Given the description of an element on the screen output the (x, y) to click on. 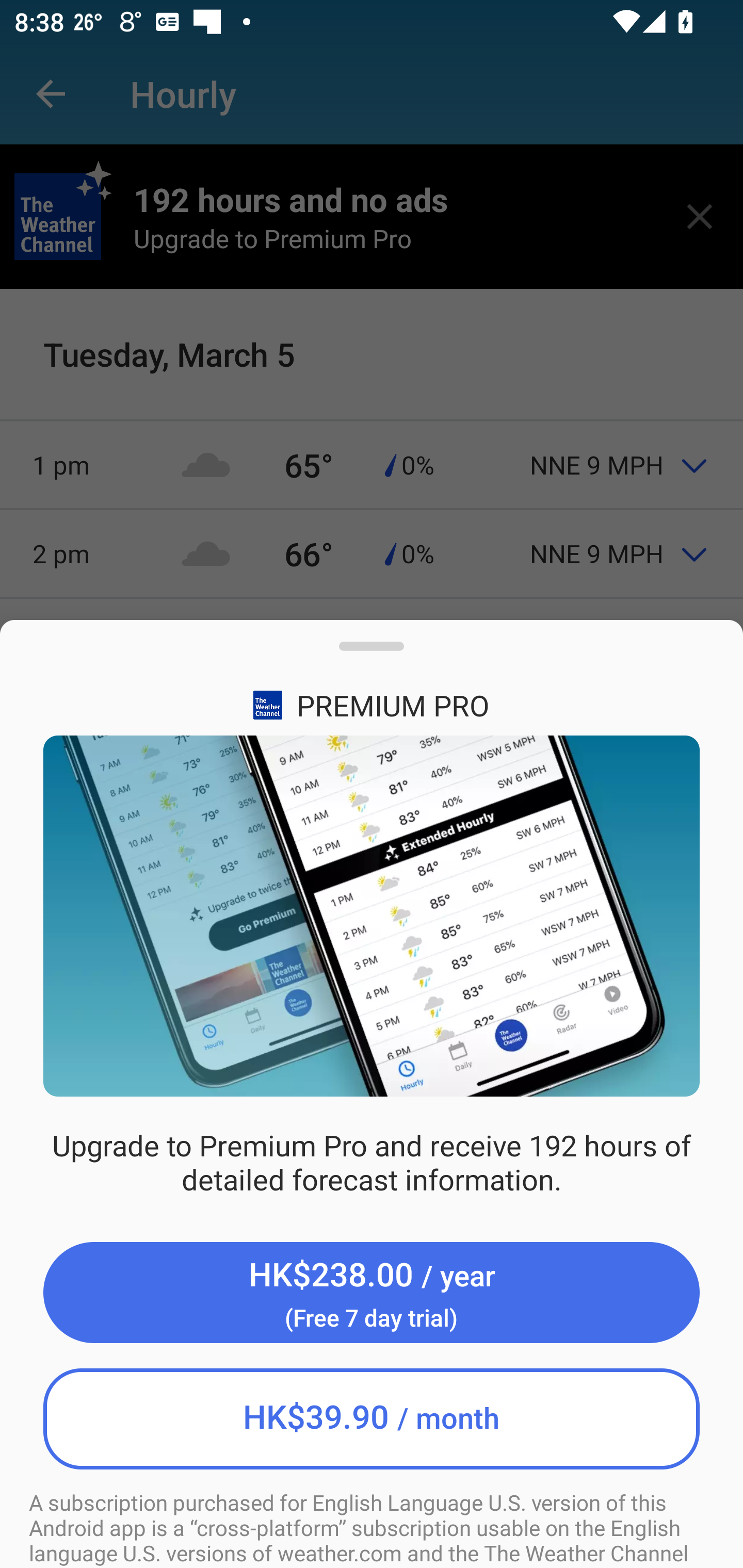
show full description (371, 653)
Logo icon PREMIUM PRO (371, 704)
HK$238.00 / year (Free 7 day trial) (371, 1292)
HK$39.90 / month (371, 1418)
